Given the description of an element on the screen output the (x, y) to click on. 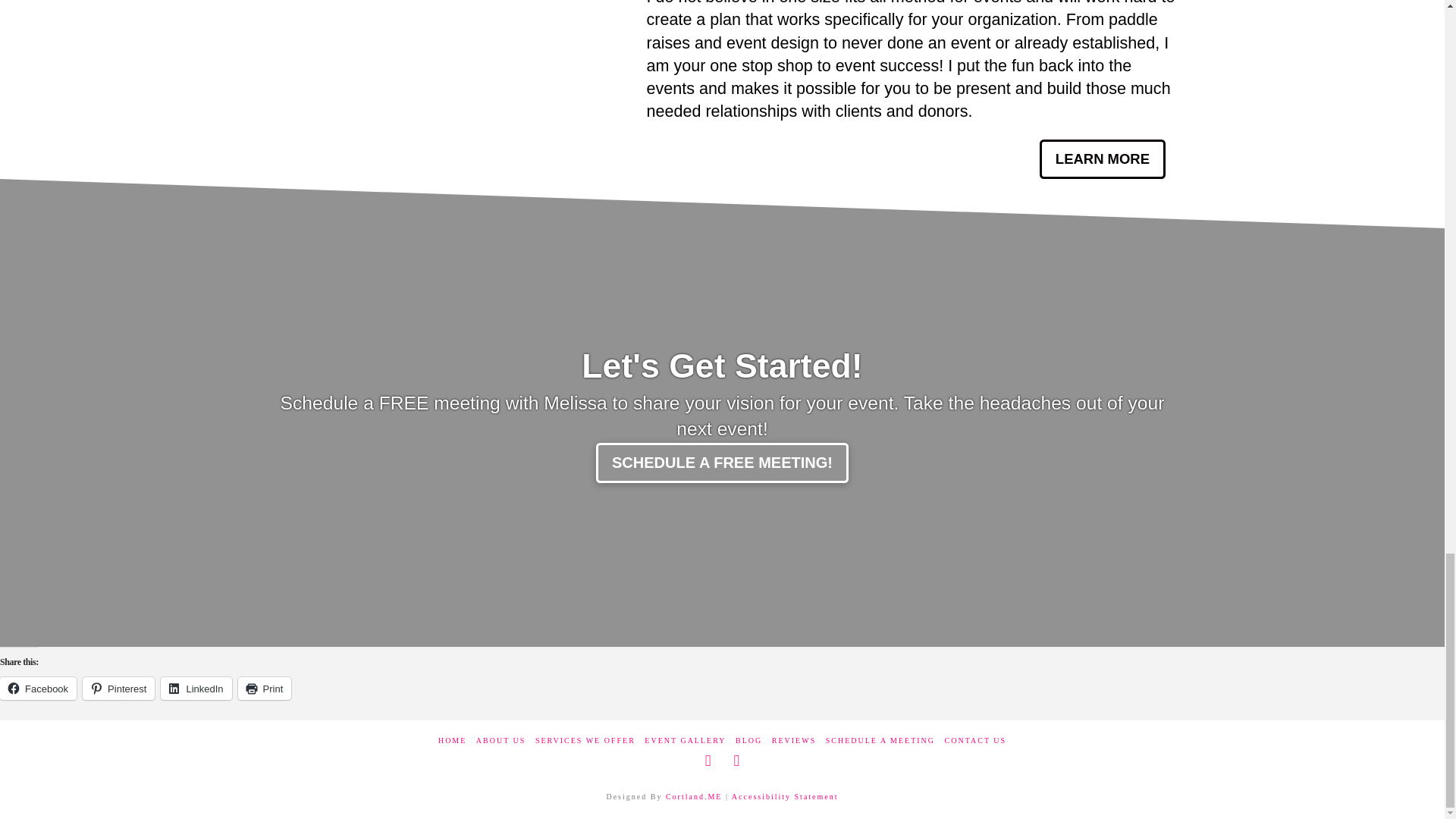
Accessibility Statement (785, 796)
Click to share on LinkedIn (195, 688)
EVENT GALLERY (685, 740)
SCHEDULE A FREE MEETING! (721, 463)
SERVICES WE OFFER (584, 740)
Click to share on Pinterest (118, 688)
Pinterest (118, 688)
SCHEDULE A MEETING (879, 740)
HOME (451, 740)
Cortland.ME (693, 796)
